Given the description of an element on the screen output the (x, y) to click on. 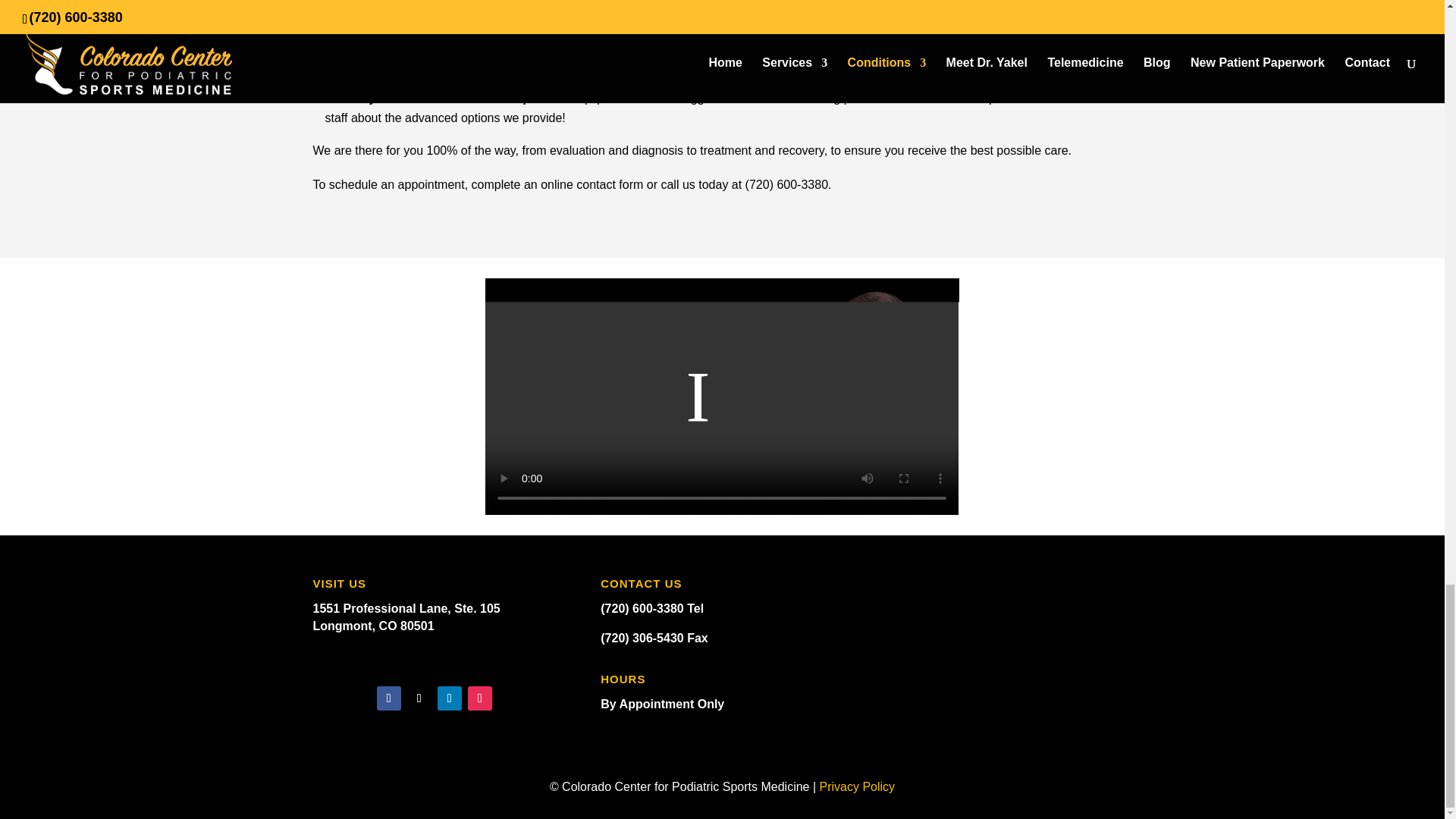
Follow on Instagram (479, 698)
Privacy Policy (857, 786)
Follow on X (418, 698)
Follow on LinkedIn (449, 698)
Follow on Facebook (389, 698)
